Given the description of an element on the screen output the (x, y) to click on. 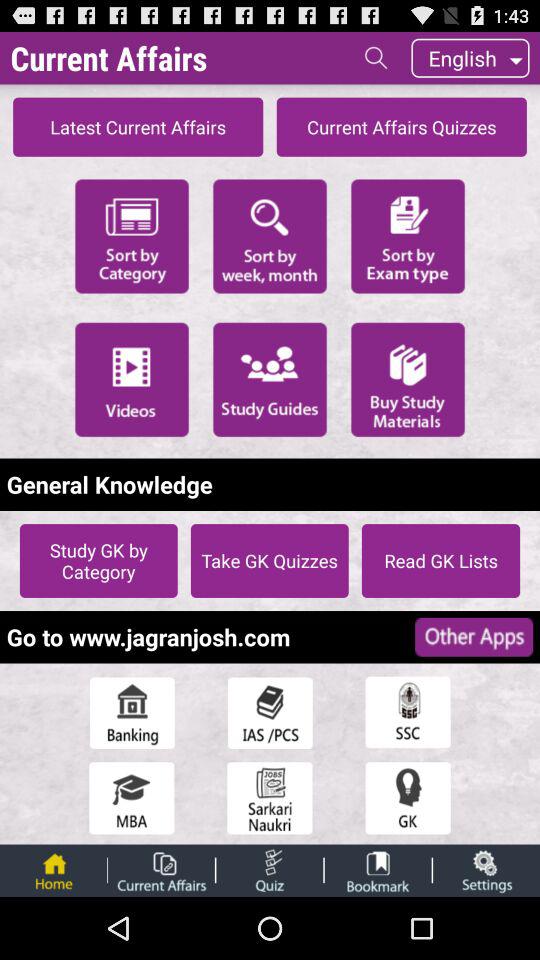
select the item to the right of the take gk quizzes button (440, 560)
